Given the description of an element on the screen output the (x, y) to click on. 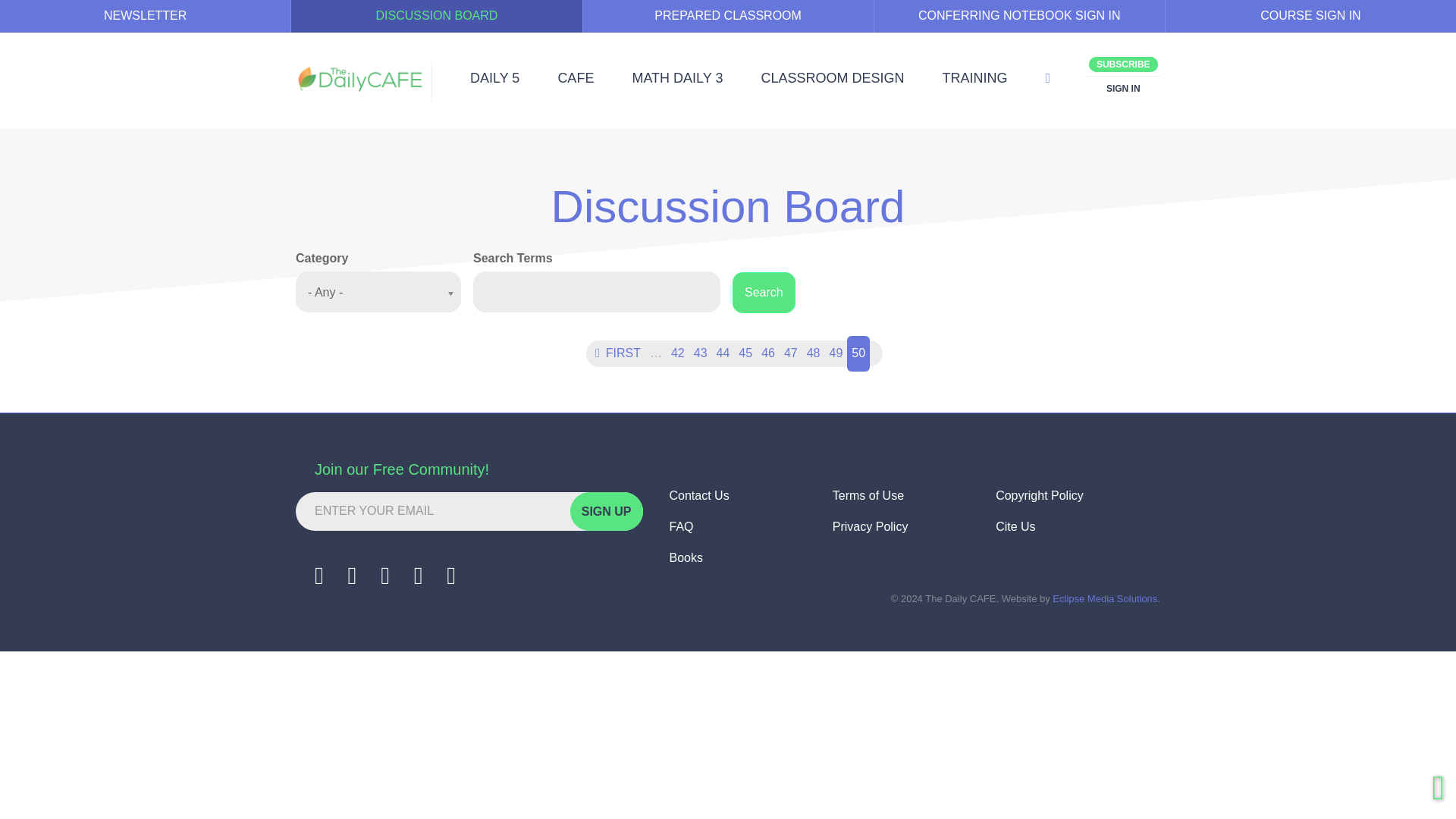
NEWSLETTER (144, 16)
DISCUSSION BOARD (435, 16)
PREPARED CLASSROOM (728, 16)
CONFERRING NOTEBOOK SIGN IN (1019, 16)
Sign Up (606, 511)
CAFE (575, 78)
Home (360, 79)
DAILY 5 (494, 78)
